Given the description of an element on the screen output the (x, y) to click on. 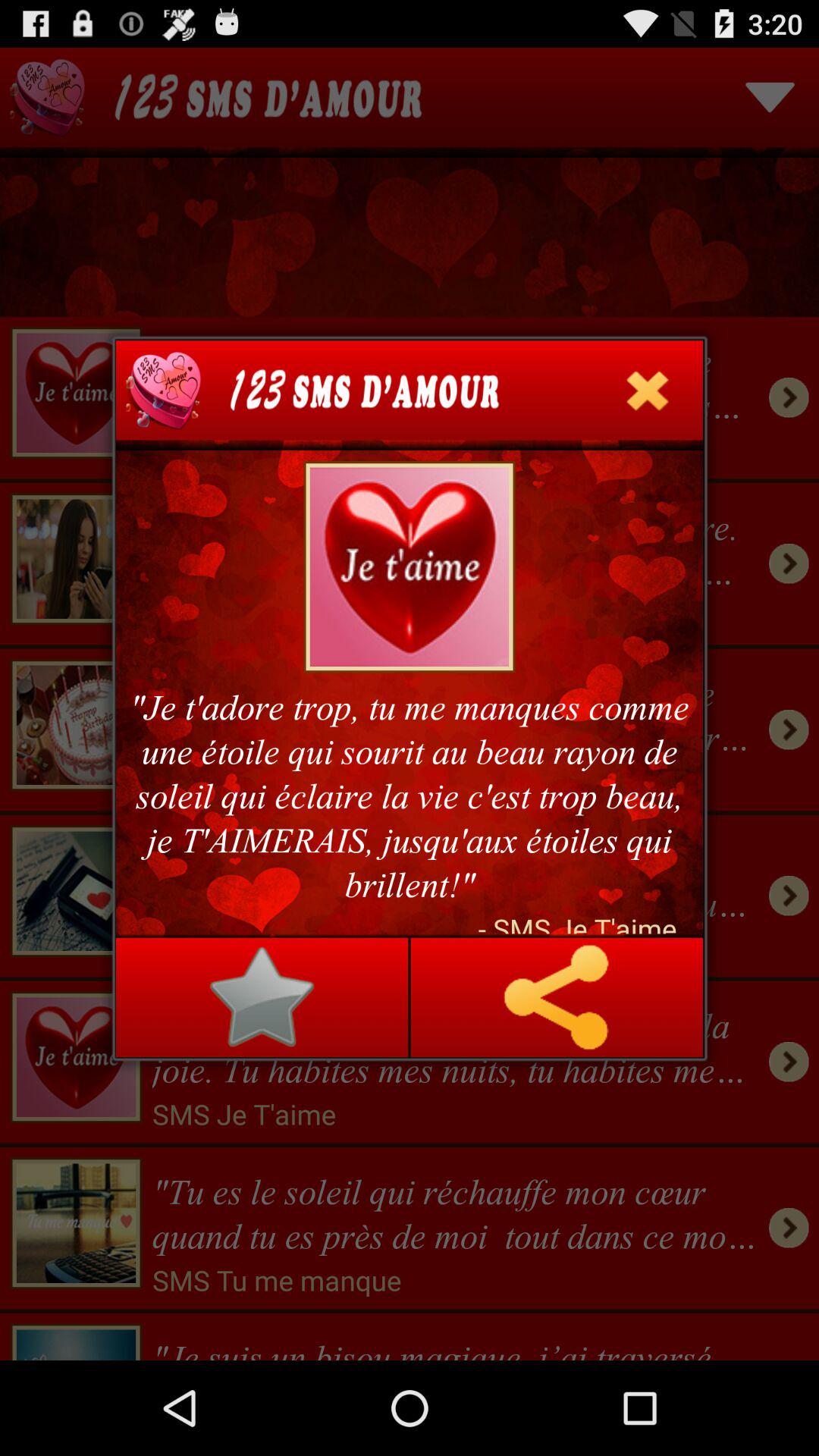
turn on the item at the top right corner (646, 390)
